Given the description of an element on the screen output the (x, y) to click on. 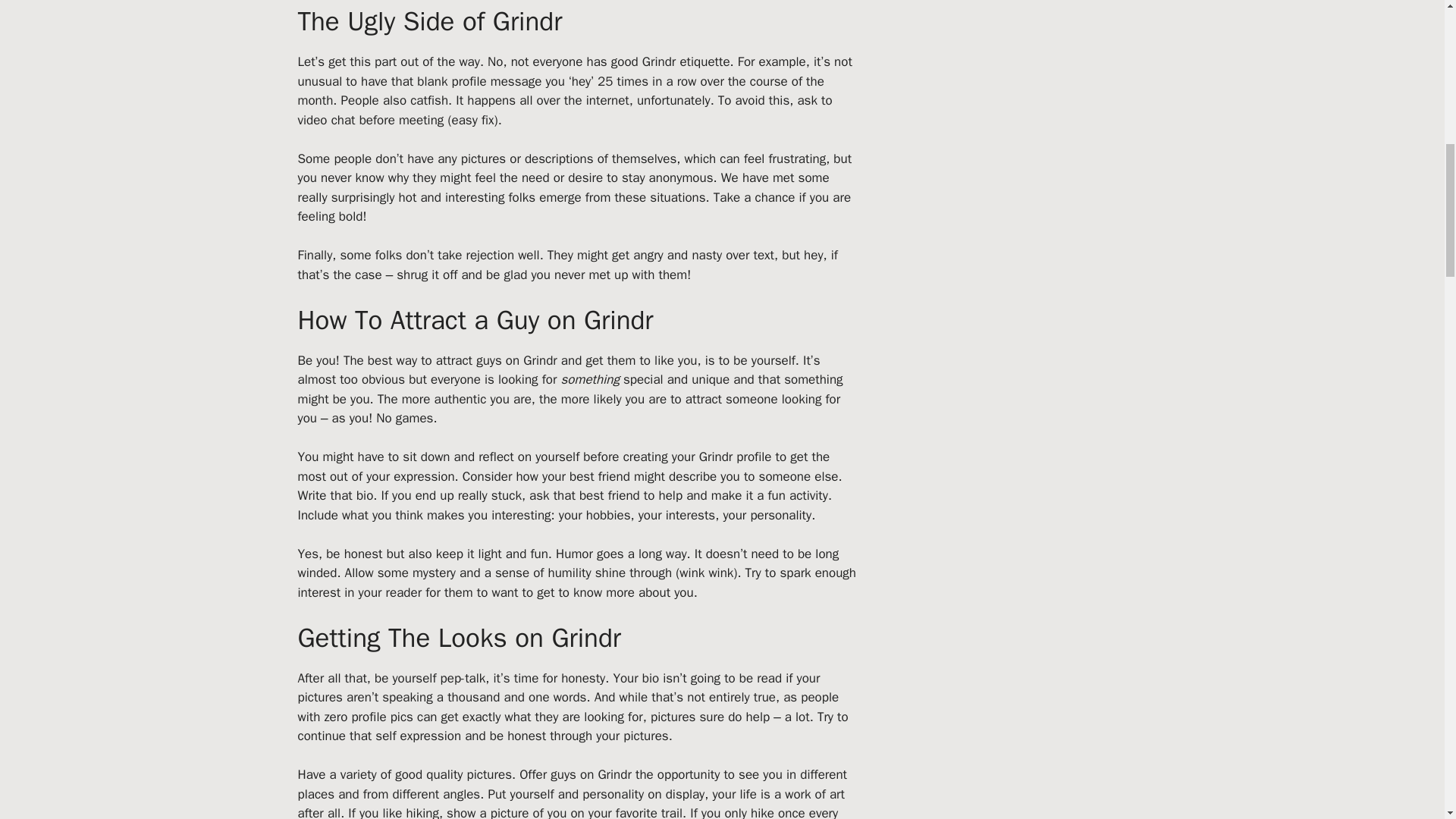
Scroll back to top (1406, 720)
